Given the description of an element on the screen output the (x, y) to click on. 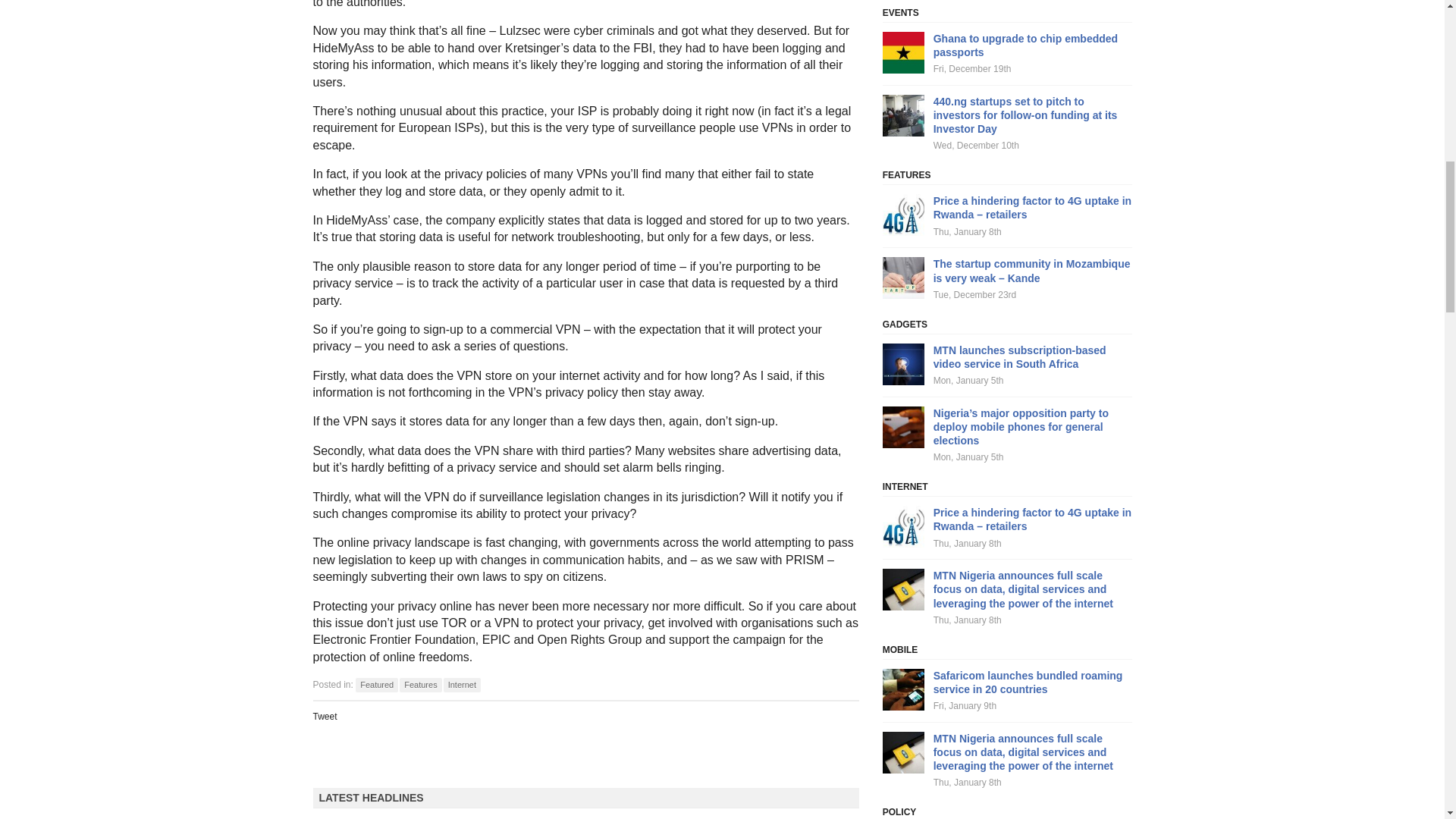
Features (419, 685)
Internet (462, 685)
Features (419, 685)
Featured (376, 685)
Featured (376, 685)
Internet (462, 685)
